Given the description of an element on the screen output the (x, y) to click on. 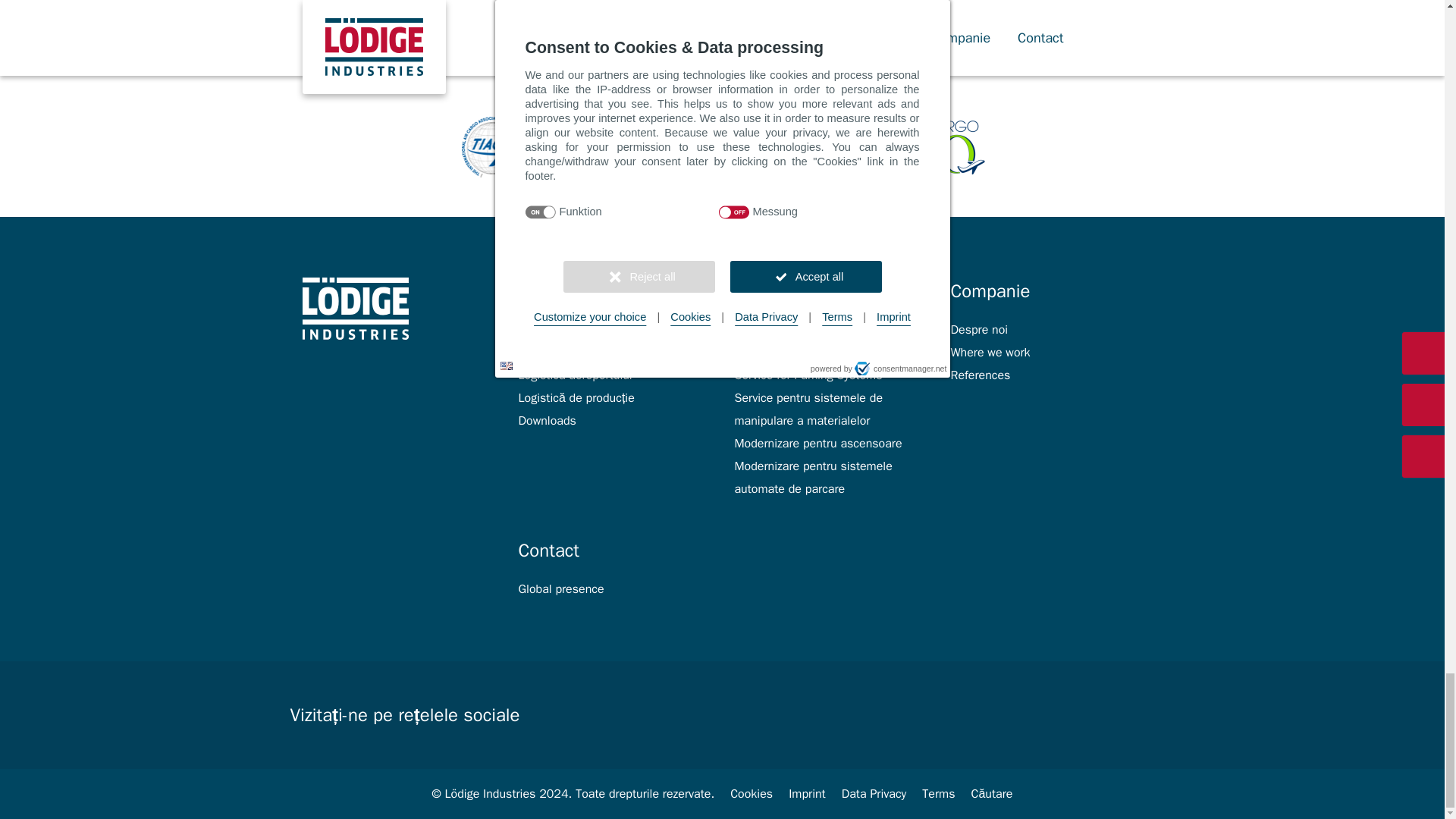
Global Market Leader (644, 147)
TIACA (489, 147)
Cargo iQ (953, 147)
